Given the description of an element on the screen output the (x, y) to click on. 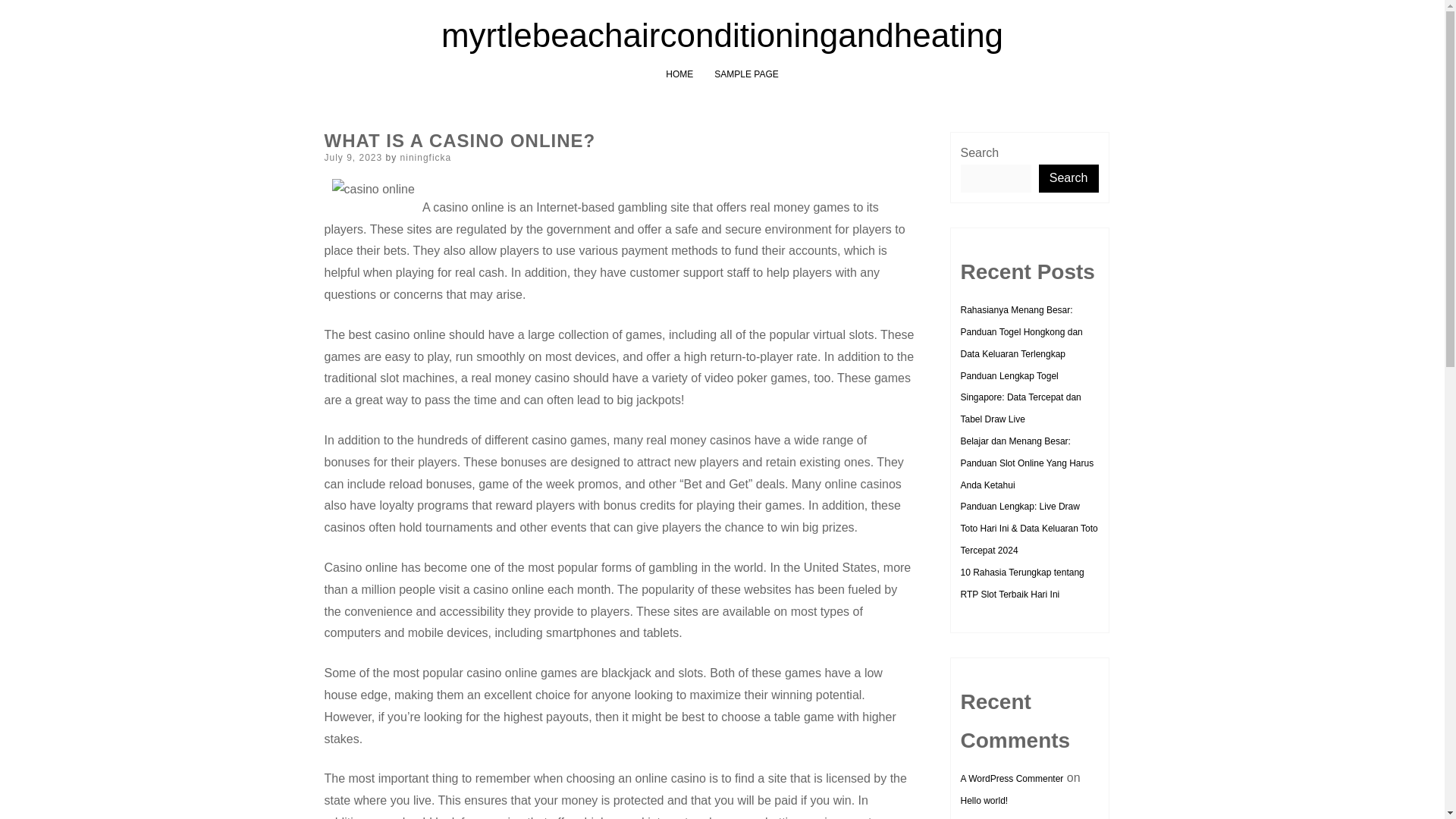
myrtlebeachairconditioningandheating (722, 35)
Search (1069, 178)
10 Rahasia Terungkap tentang RTP Slot Terbaik Hari Ini (1021, 583)
A WordPress Commenter (1010, 778)
July 9, 2023 (353, 157)
Hello world! (983, 800)
HOME (679, 73)
